Given the description of an element on the screen output the (x, y) to click on. 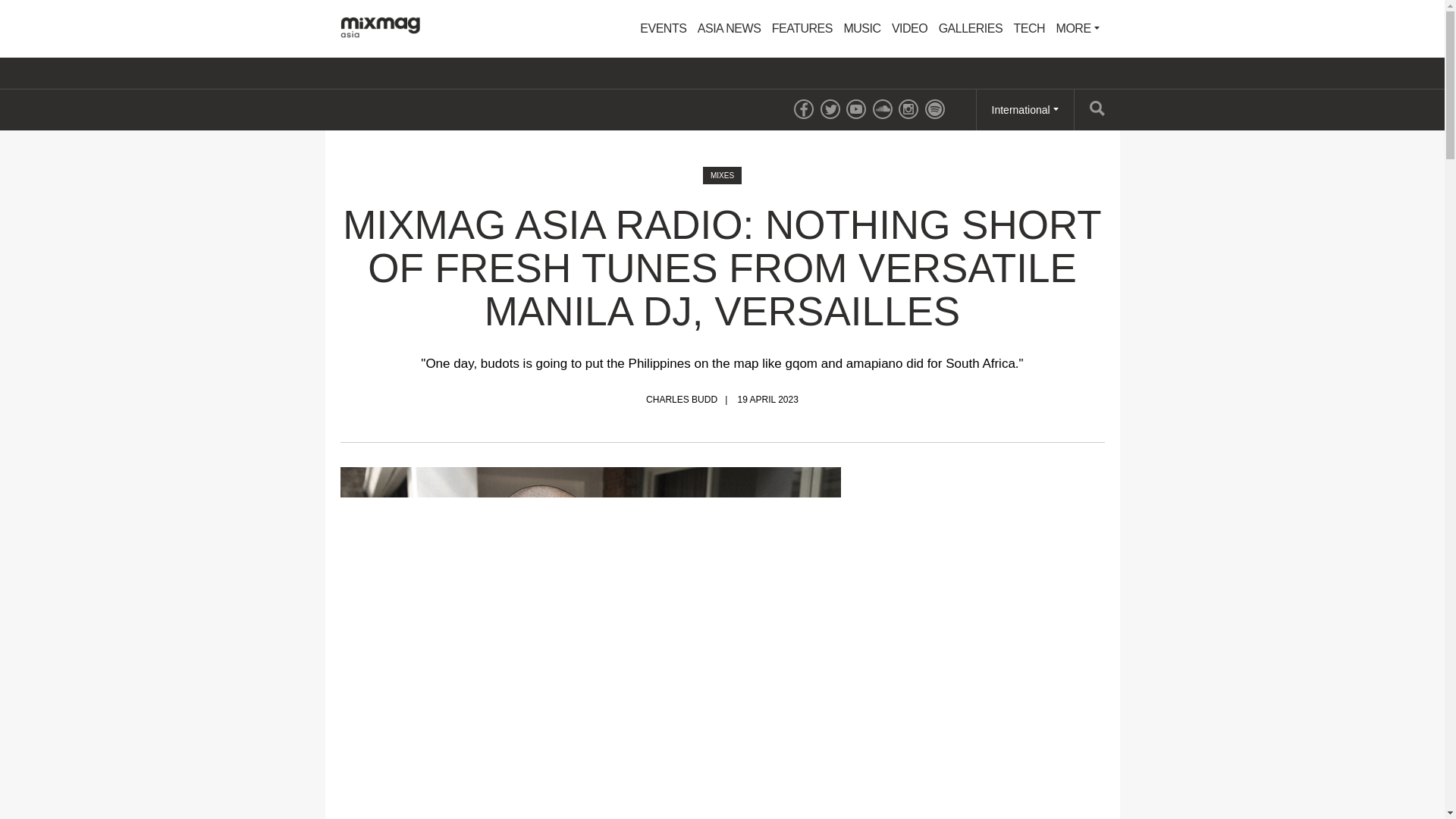
MUSIC (861, 28)
TECH (1030, 28)
MORE (1078, 28)
FEATURES (802, 28)
EVENTS (662, 28)
VIDEO (909, 28)
GALLERIES (970, 28)
ASIA NEWS (730, 28)
